Given the description of an element on the screen output the (x, y) to click on. 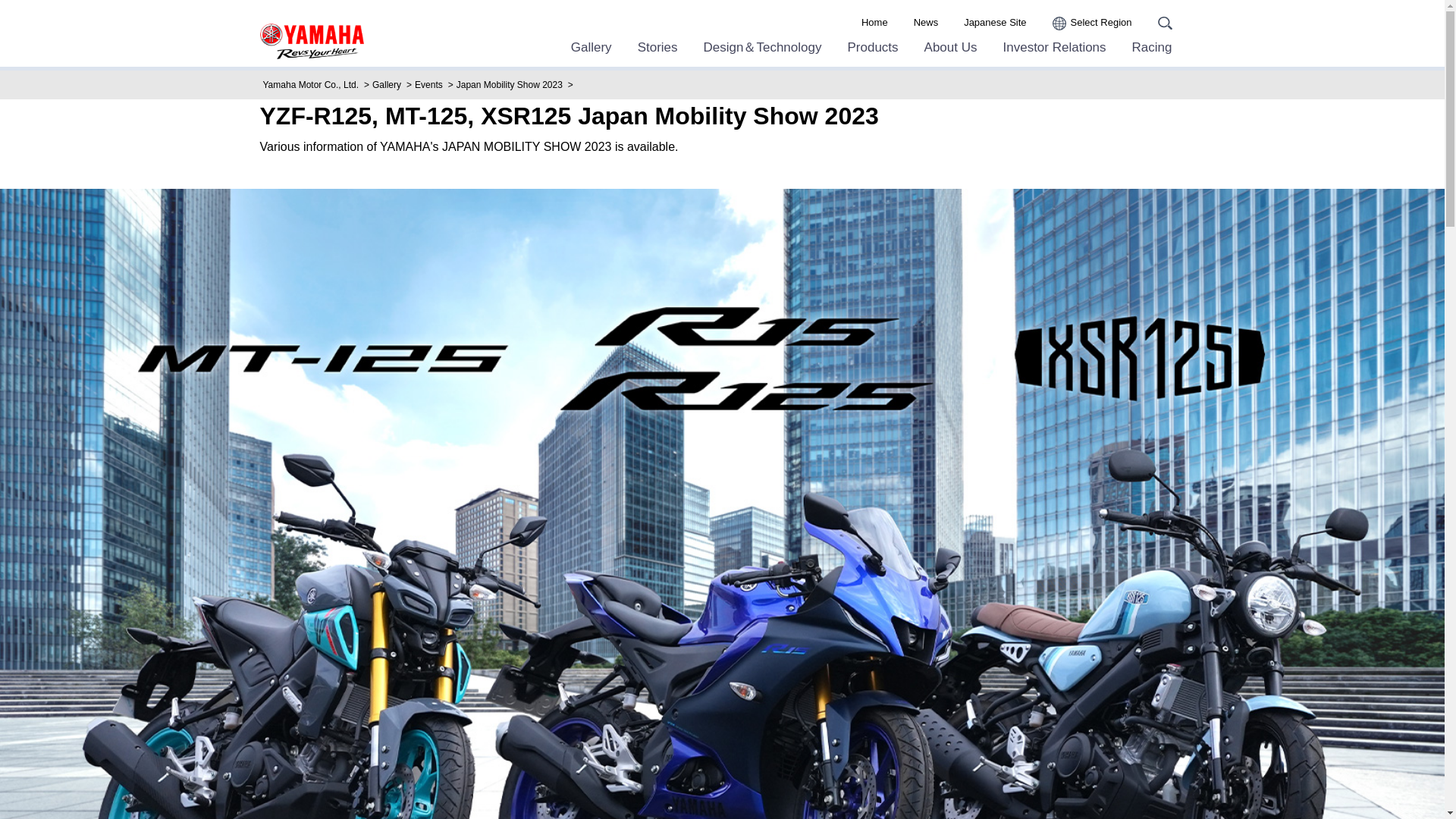
Gallery (590, 47)
Japanese Site (994, 22)
Products (872, 47)
News (926, 22)
Stories (657, 47)
Select Region (1092, 22)
Home (874, 22)
